Given the description of an element on the screen output the (x, y) to click on. 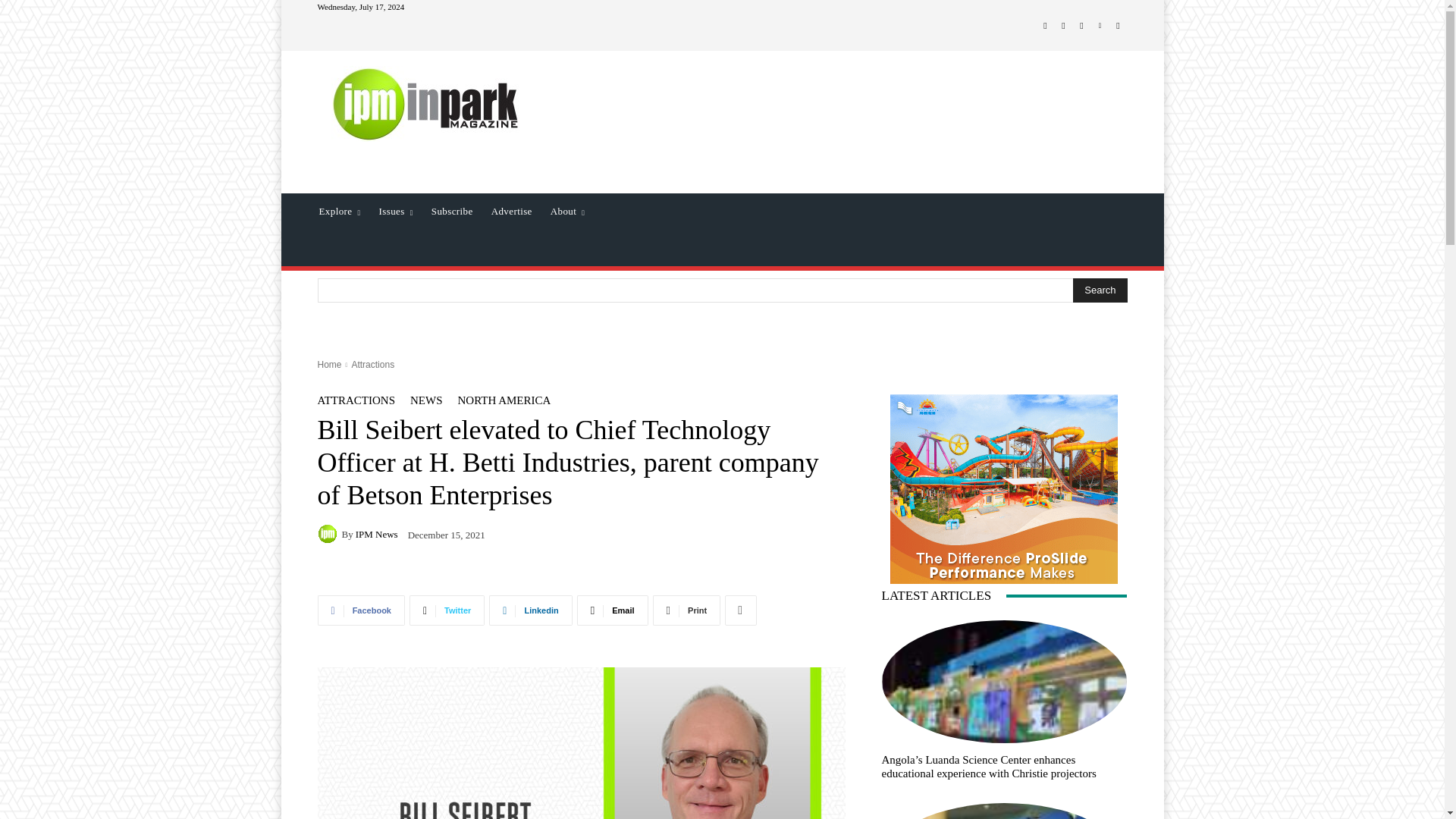
Youtube (1117, 25)
Facebook (1044, 25)
IPM News (328, 533)
Vimeo (1099, 25)
View all posts in Attractions (372, 364)
Instagram (1062, 25)
Twitter (1080, 25)
Facebook (360, 610)
